Given the description of an element on the screen output the (x, y) to click on. 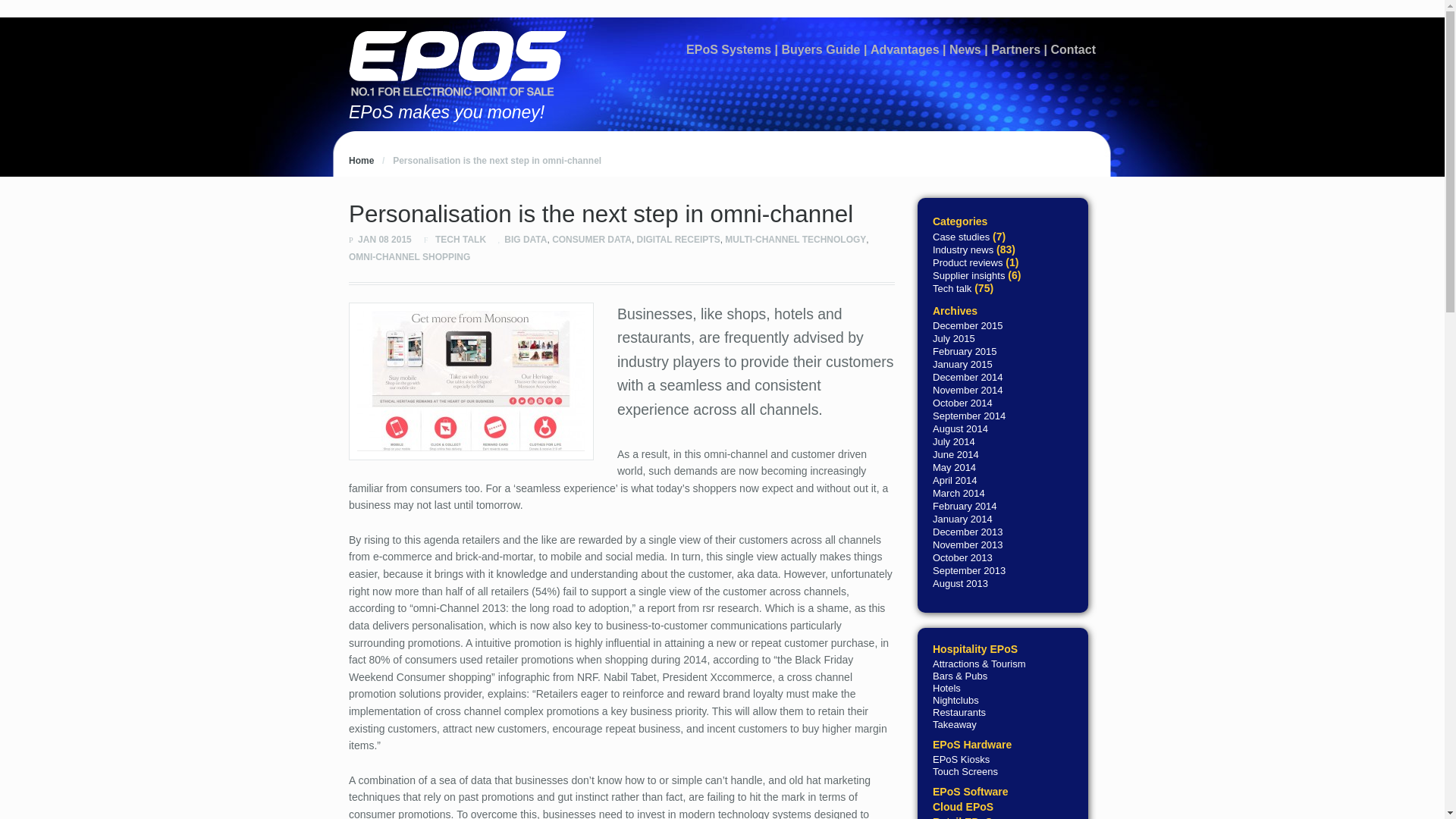
Home (361, 160)
OMNI-CHANNEL SHOPPING (409, 256)
CONSUMER DATA (591, 239)
Case studies (961, 235)
December 2014 (968, 377)
January 2015 (962, 364)
Supplier insights (968, 275)
February 2015 (965, 351)
EPoS News (361, 160)
Tech talk (952, 287)
Advantages (904, 49)
December 2015 (968, 325)
TECH TALK (460, 239)
MULTI-CHANNEL TECHNOLOGY (795, 239)
EPoS Systems (728, 49)
